Given the description of an element on the screen output the (x, y) to click on. 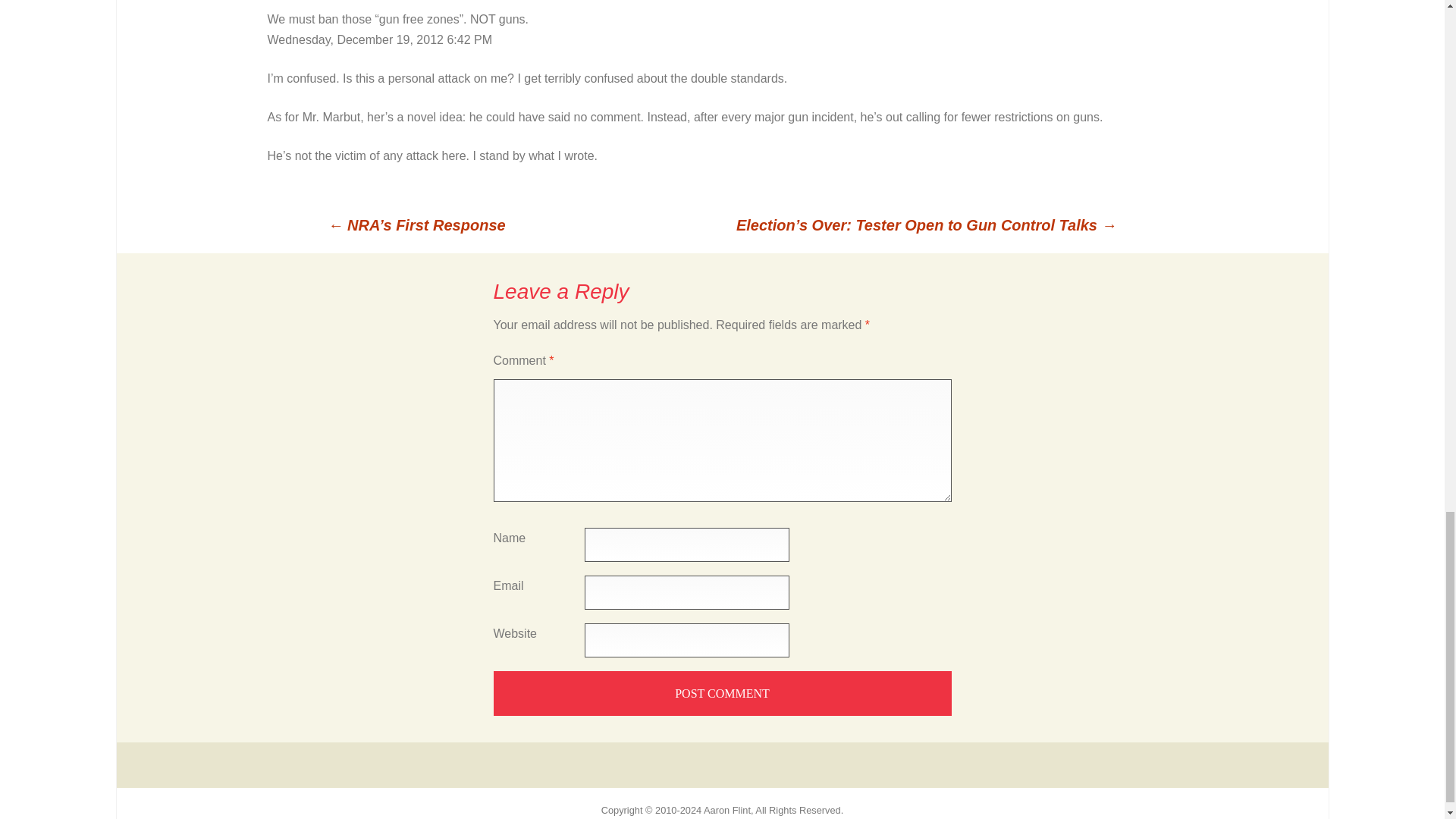
Post Comment (721, 692)
Post Comment (721, 692)
